Given the description of an element on the screen output the (x, y) to click on. 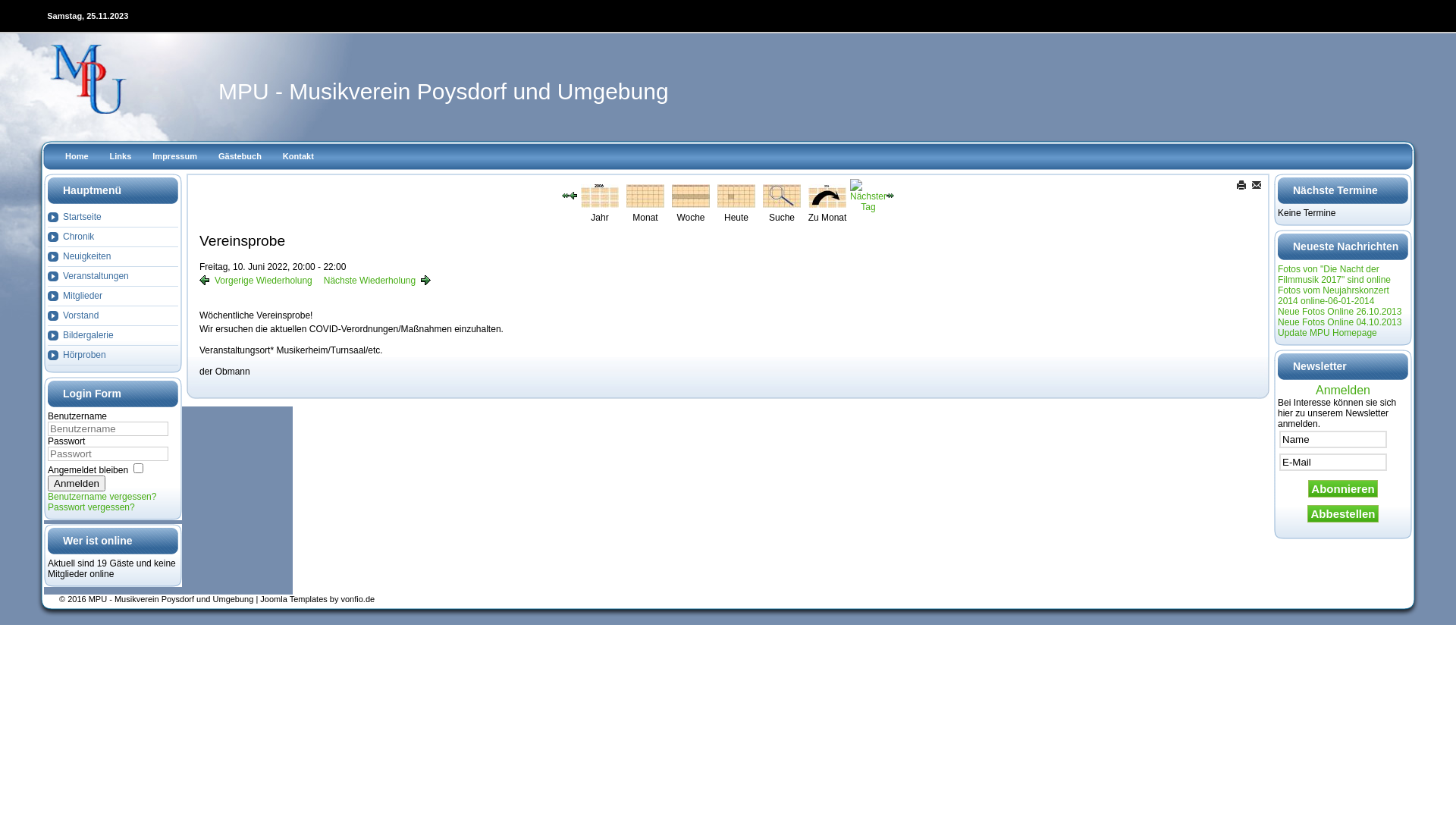
E-Mail Element type: hover (1332, 461)
Name Element type: hover (1332, 439)
Veranstaltungen Element type: text (112, 276)
Bildergalerie Element type: text (112, 335)
Mitglieder Element type: text (112, 296)
Abonnieren Element type: text (1342, 488)
Joomla Templates Element type: text (293, 598)
Vorheriger Monat Element type: hover (565, 194)
Anmelden Element type: text (76, 483)
Anmelden Element type: text (1342, 390)
Zu Monat Element type: hover (827, 194)
Heute Element type: hover (736, 194)
Neue Fotos Online 04.10.2013 Element type: text (1339, 321)
Suche Element type: hover (781, 194)
Impressum Element type: text (174, 156)
Vorgerige Wiederholung Element type: text (255, 280)
EMAIL Element type: hover (1257, 183)
Kontakt Element type: text (298, 156)
Fotos von "Die Nacht der Filmmusik 2017" sind online Element type: text (1333, 274)
Benutzername vergessen? Element type: text (101, 496)
MPU - Musikverein Poysdorf und Umgebung Element type: text (443, 90)
Startseite Element type: text (112, 217)
Update MPU Homepage Element type: text (1327, 332)
Passwort vergessen? Element type: text (90, 507)
Monat Element type: hover (645, 194)
Neuigkeiten Element type: text (112, 256)
Links Element type: text (120, 156)
Fotos vom Neujahrskonzert 2014 online-06-01-2014 Element type: text (1333, 295)
Home Element type: text (76, 156)
Woche Element type: hover (690, 194)
Vorstand Element type: text (112, 316)
Drucken Element type: hover (1242, 183)
Abbestellen Element type: text (1342, 513)
Vorheriger Tag Element type: hover (573, 194)
Jahr Element type: hover (599, 194)
Chronik Element type: text (112, 237)
Neue Fotos Online 26.10.2013 Element type: text (1339, 311)
